Given the description of an element on the screen output the (x, y) to click on. 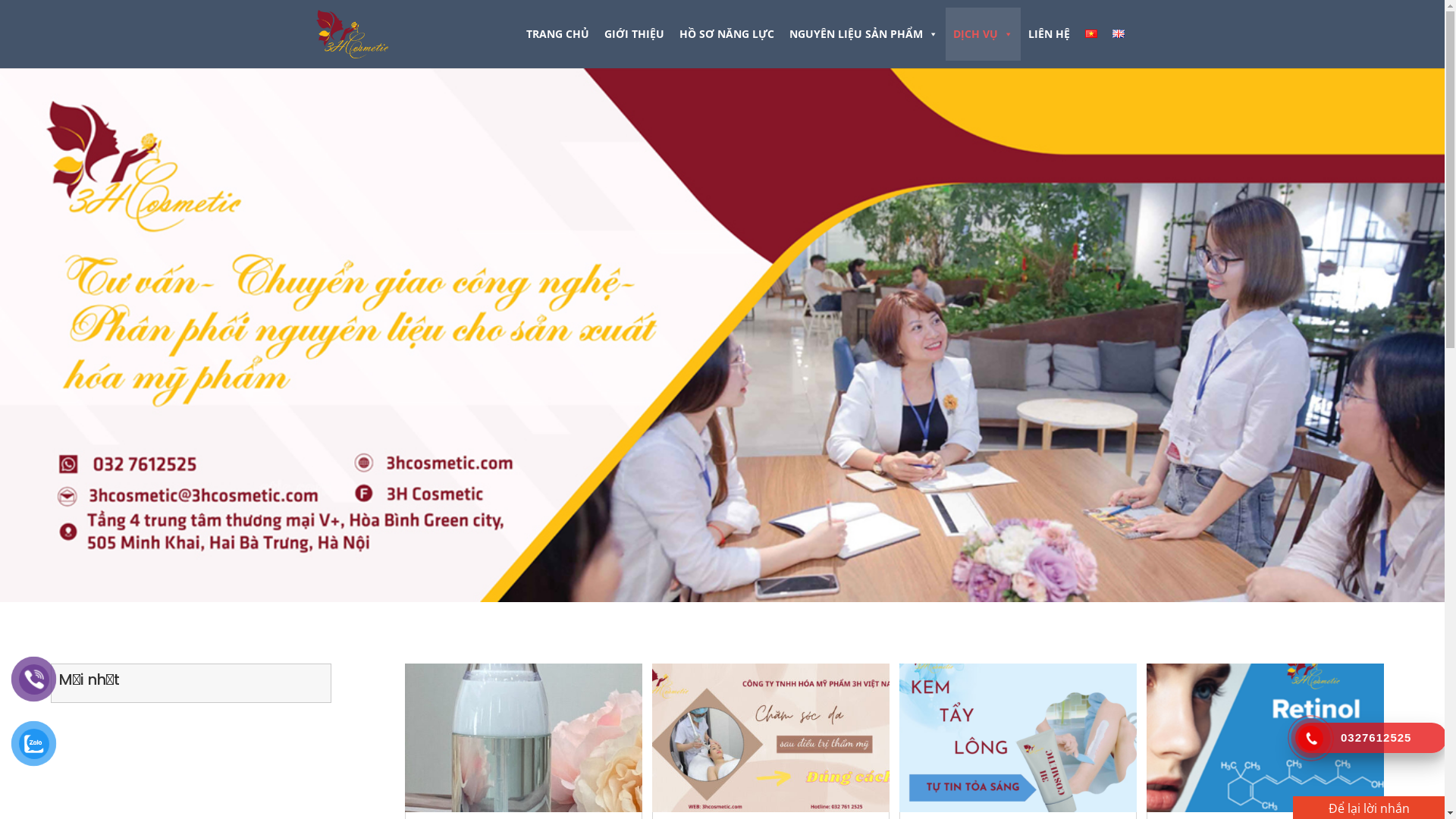
banner 3h Element type: hover (722, 335)
0327612525 Element type: text (1370, 737)
